Given the description of an element on the screen output the (x, y) to click on. 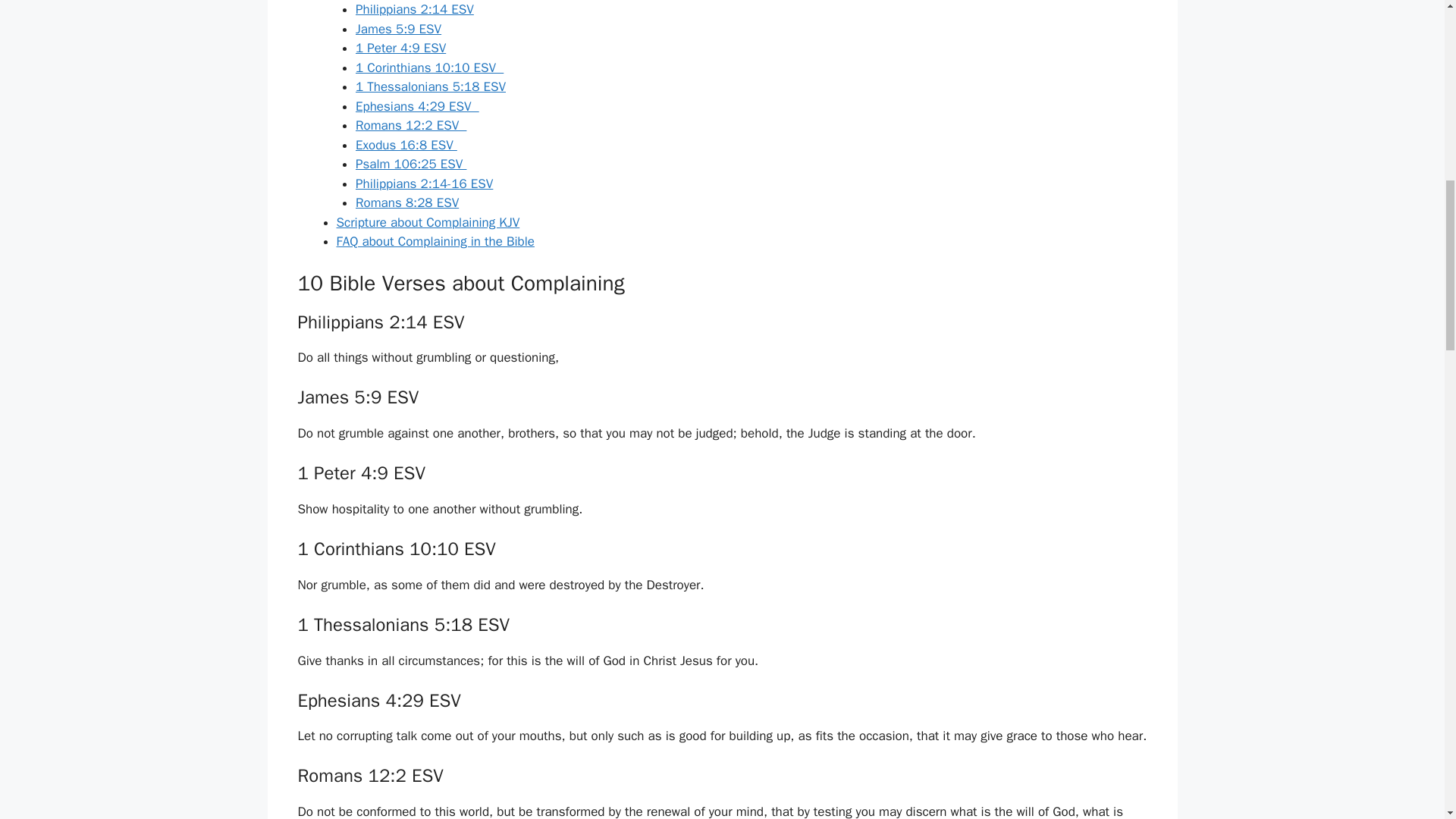
Ephesians 4:29 ESV   (417, 106)
Psalm 106:25 ESV  (410, 163)
Romans 8:28 ESV (406, 202)
Philippians 2:14 ESV (414, 9)
1 Thessalonians 5:18 ESV (430, 86)
Romans 12:2 ESV   (410, 125)
1 Corinthians 10:10 ESV   (429, 67)
Scripture about Complaining KJV (427, 222)
FAQ about Complaining in the Bible (435, 241)
Philippians 2:14-16 ESV (424, 183)
